Given the description of an element on the screen output the (x, y) to click on. 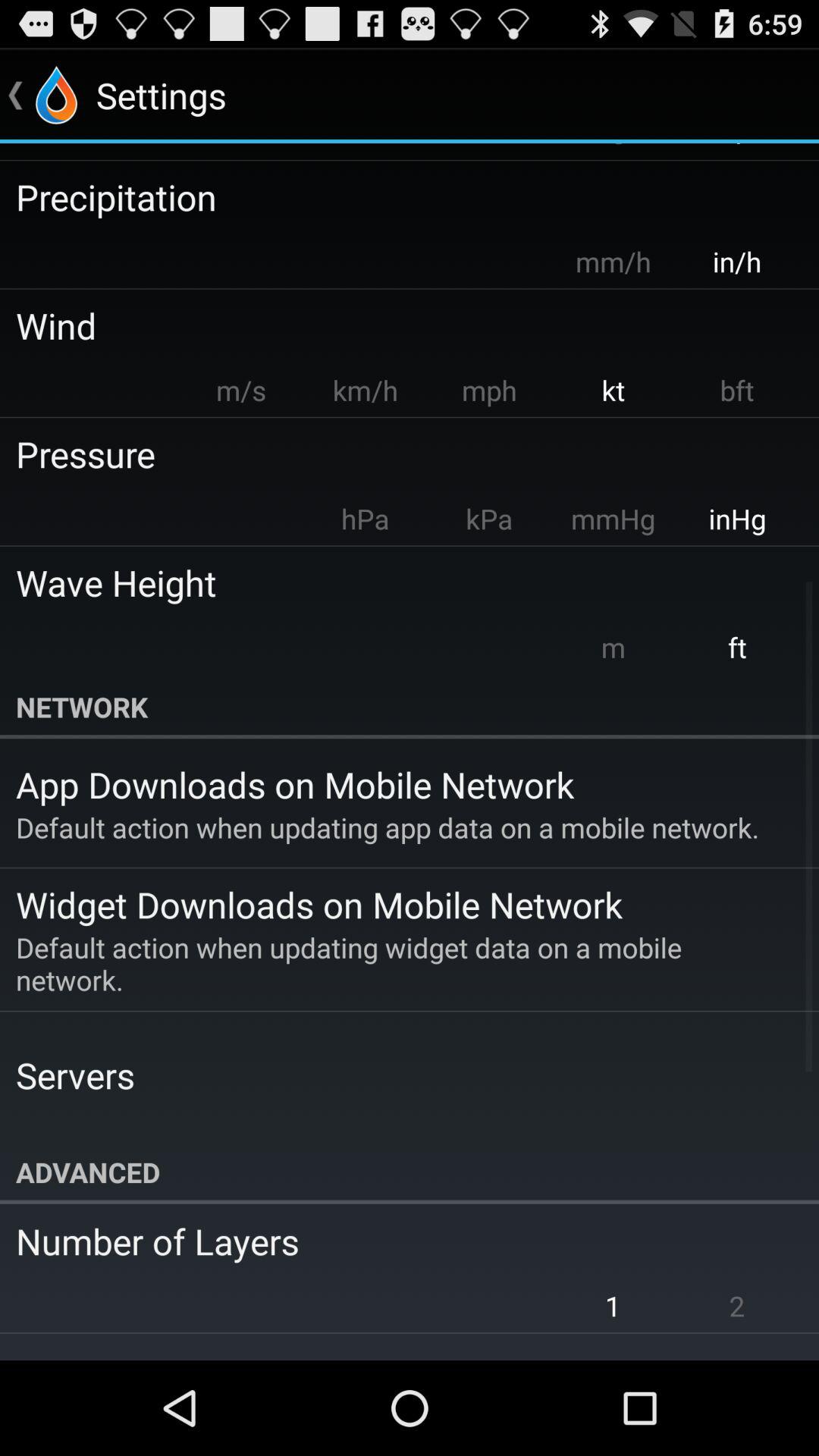
launch wave height icon (399, 582)
